Given the description of an element on the screen output the (x, y) to click on. 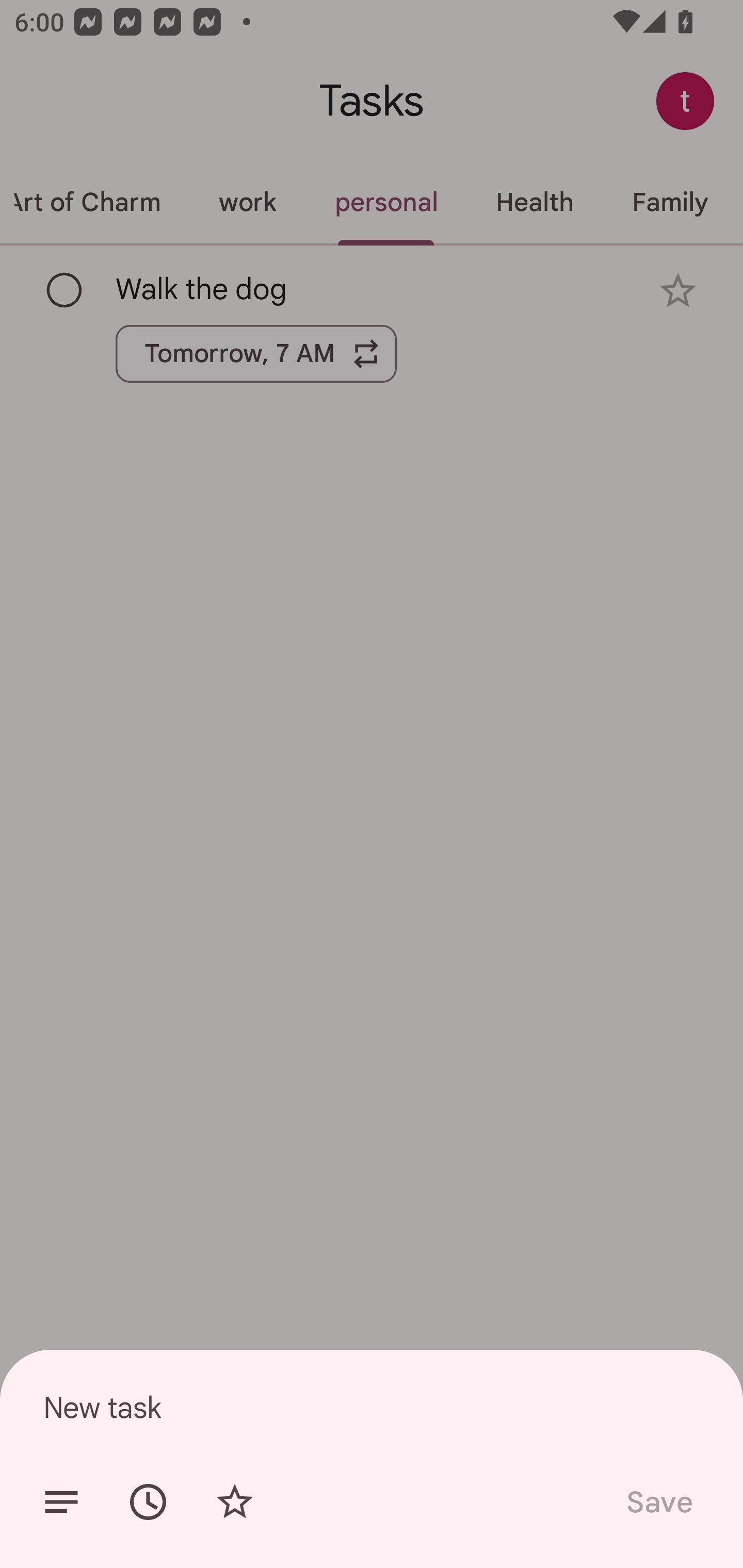
New task (371, 1407)
Save (659, 1501)
Add details (60, 1501)
Set date/time (147, 1501)
Add star (234, 1501)
